Given the description of an element on the screen output the (x, y) to click on. 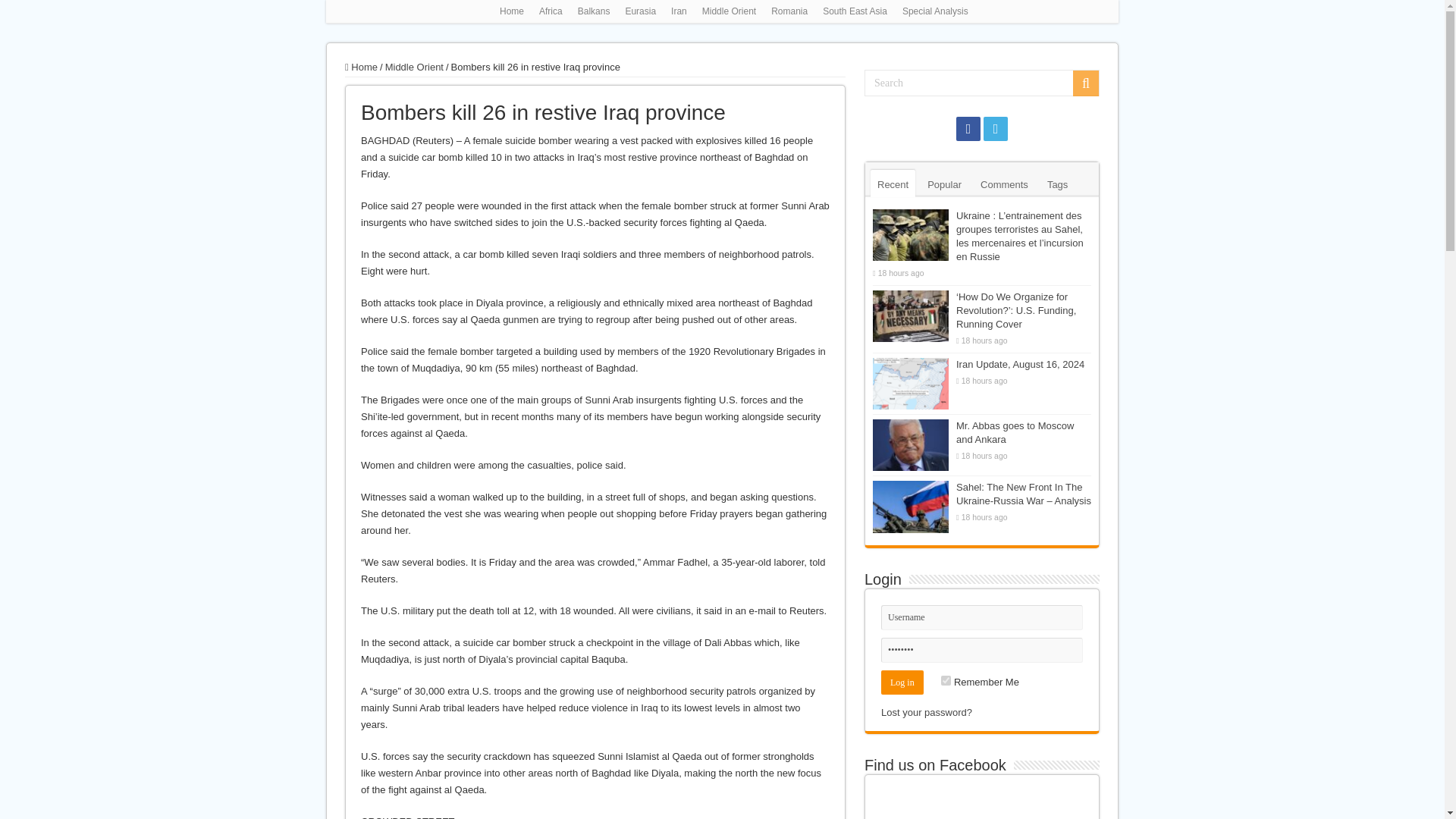
Romania (788, 11)
Home (511, 11)
Recent (892, 183)
Password (981, 650)
Eurasia (640, 11)
Middle Orient (414, 66)
Search (1086, 83)
Username (981, 617)
South East Asia (855, 11)
Facebook (967, 128)
